Given the description of an element on the screen output the (x, y) to click on. 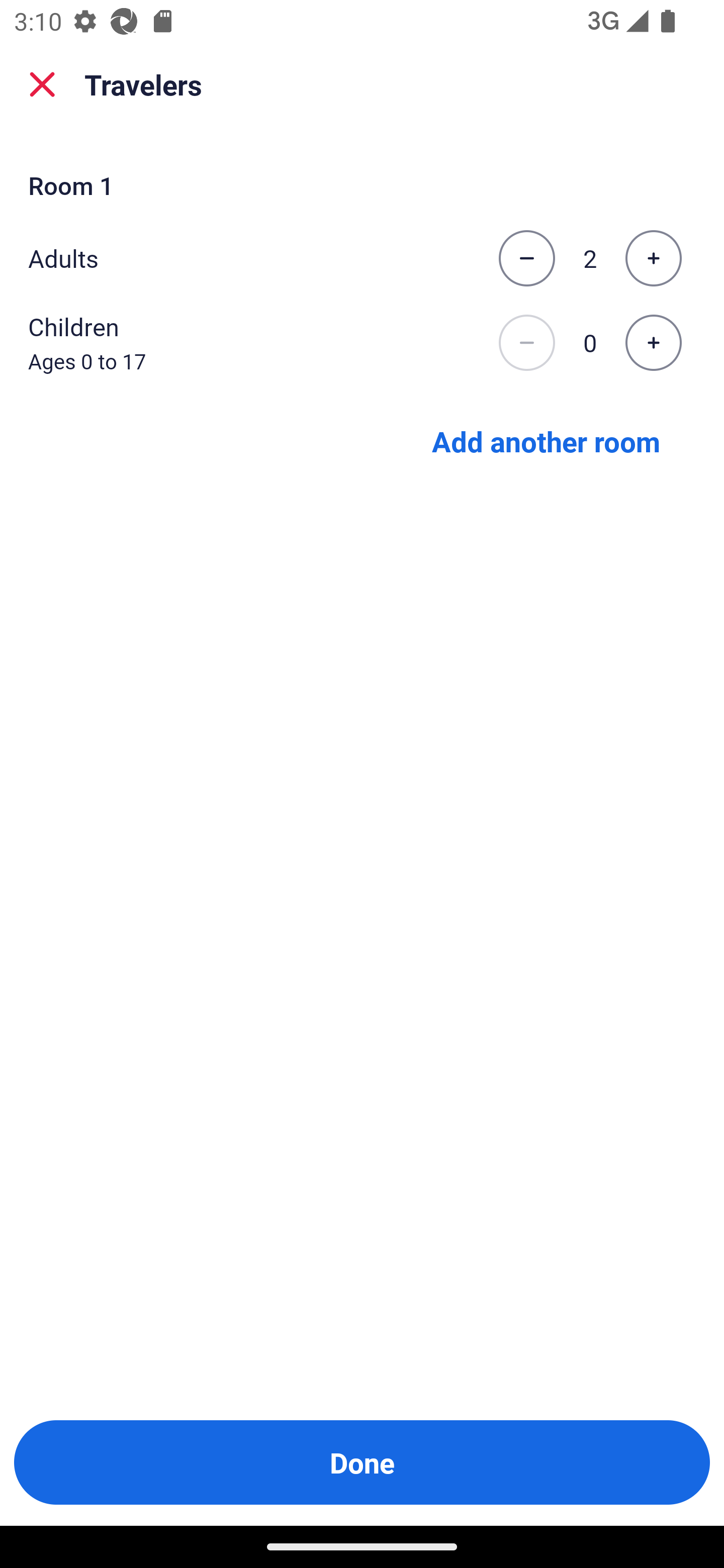
close (42, 84)
Decrease the number of adults (526, 258)
Increase the number of adults (653, 258)
Decrease the number of children (526, 343)
Increase the number of children (653, 343)
Add another room (545, 440)
Done (361, 1462)
